Given the description of an element on the screen output the (x, y) to click on. 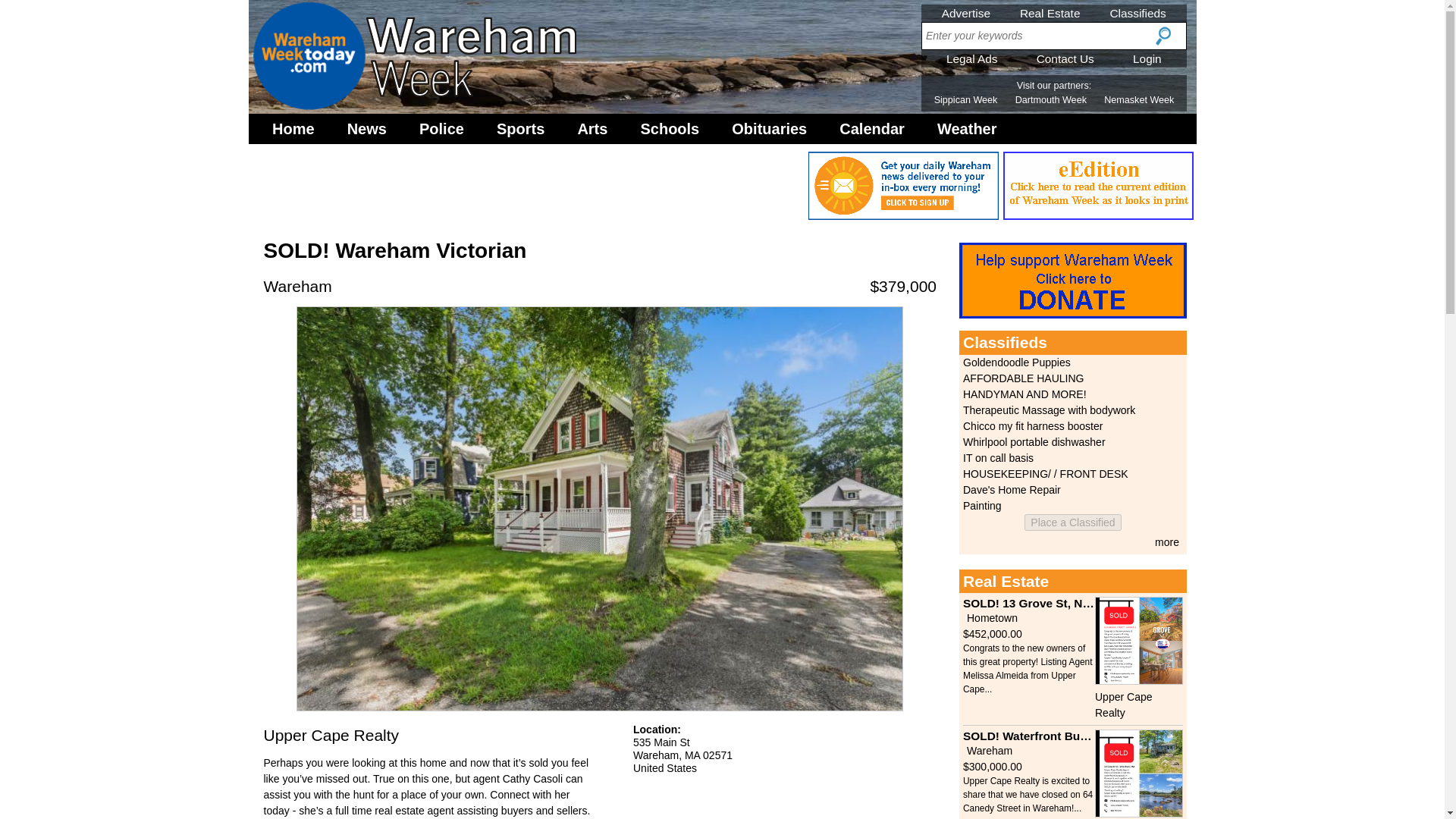
Contact Us (1065, 58)
Classifieds (1137, 12)
Sippican Week (965, 100)
Police (440, 128)
Real Estate (1050, 12)
Calendar (871, 128)
Advertise (966, 12)
Nemasket Week (1138, 100)
News (366, 128)
